Given the description of an element on the screen output the (x, y) to click on. 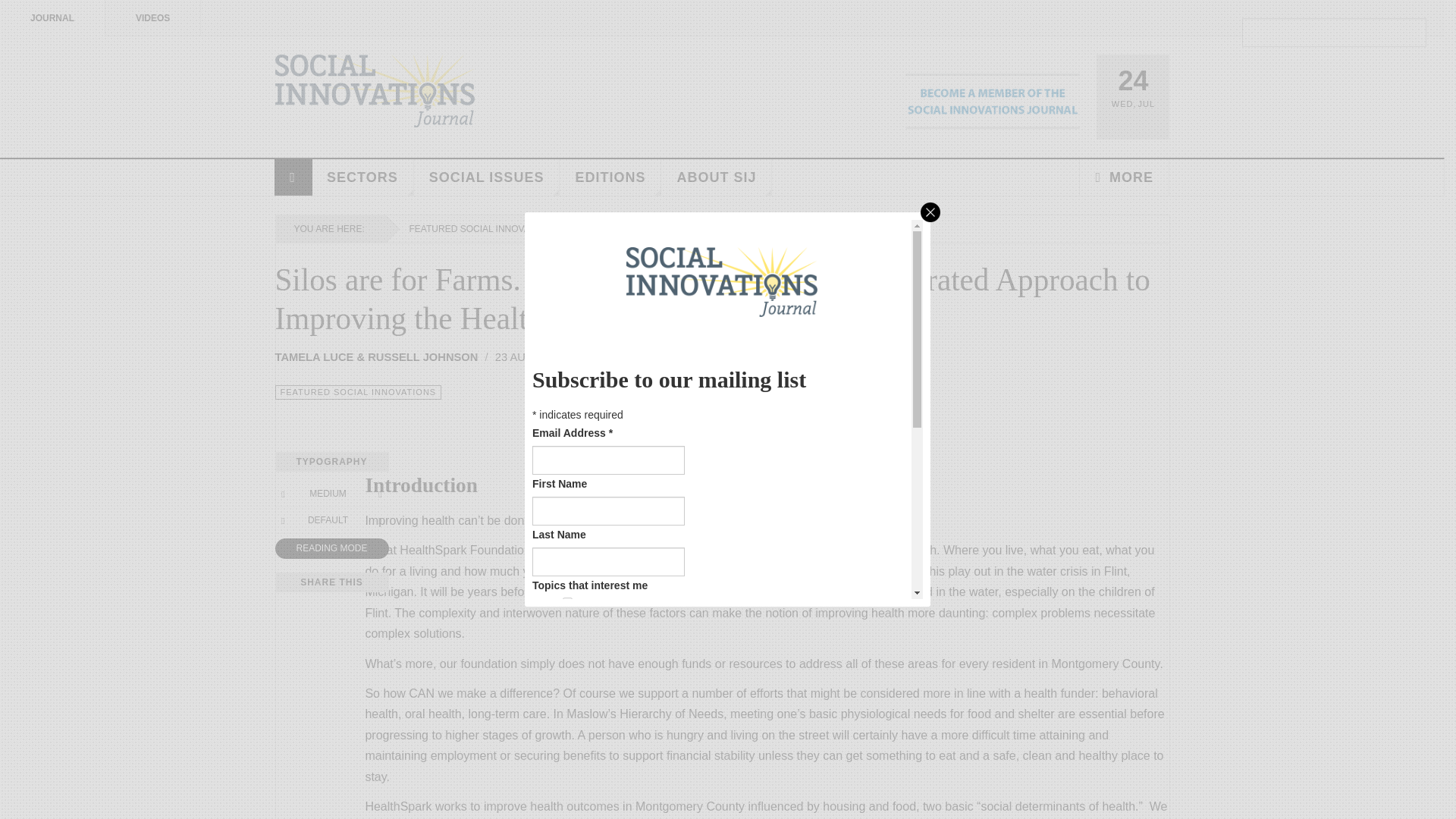
4 (567, 646)
32 (567, 712)
256 (567, 777)
16 (567, 690)
2 (567, 624)
64 (567, 734)
1 (567, 602)
Social Innovation Journal (374, 90)
512 (567, 800)
128 (567, 756)
8 (567, 668)
